Given the description of an element on the screen output the (x, y) to click on. 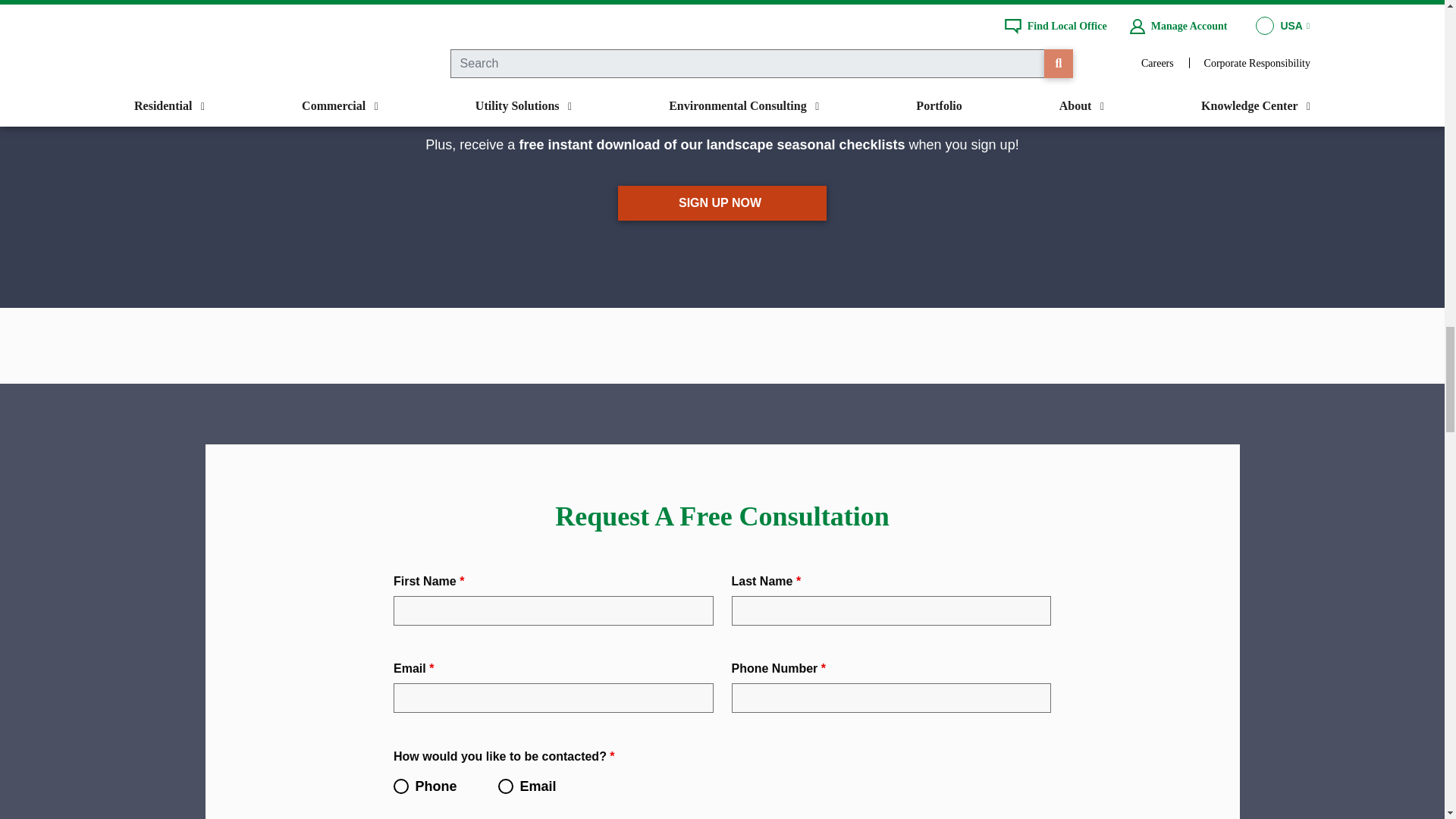
Opens in a new window (722, 202)
Email (504, 785)
Phone (400, 785)
